Given the description of an element on the screen output the (x, y) to click on. 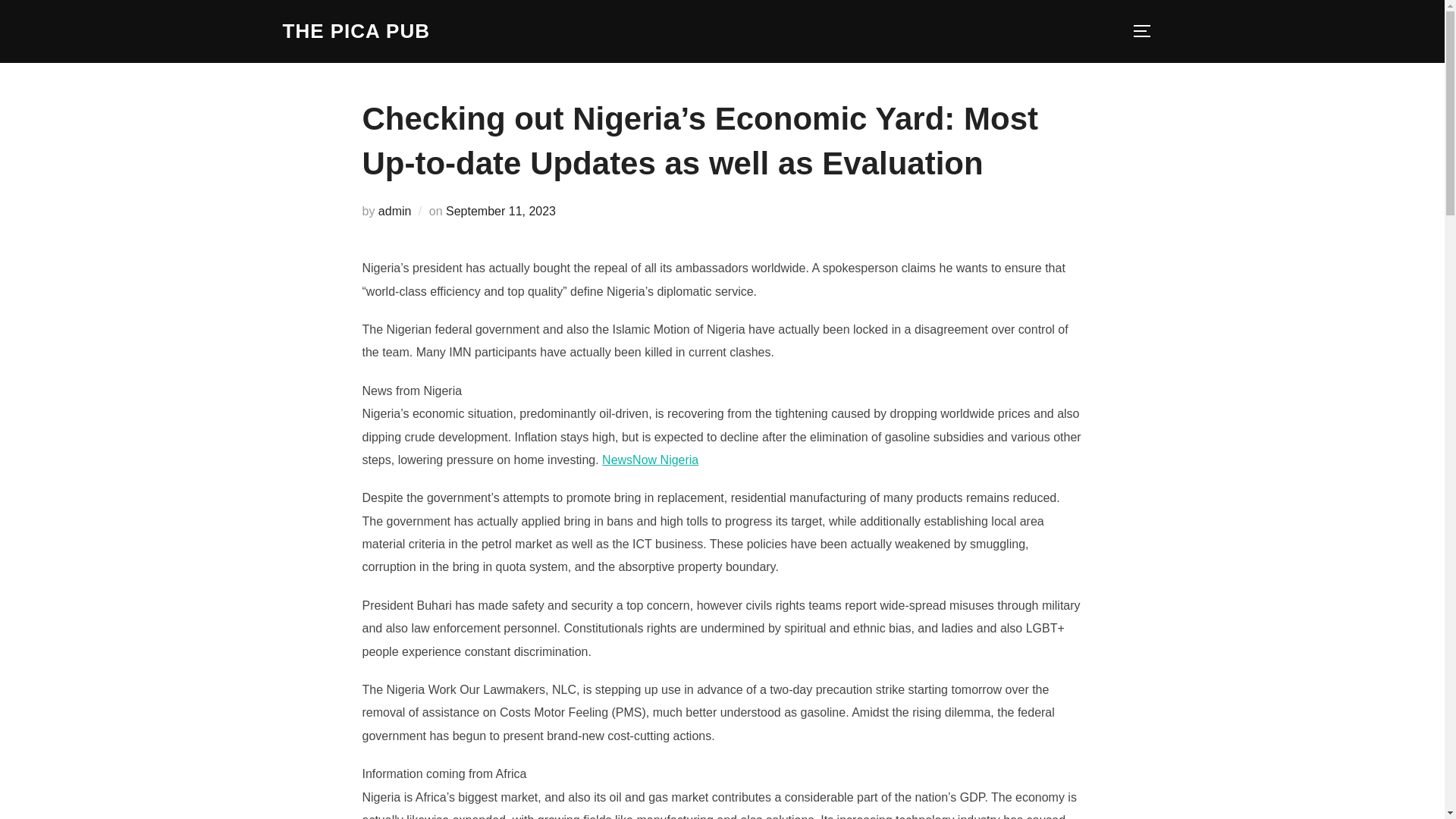
My WordPress Blog (355, 31)
NewsNow Nigeria (650, 459)
September 11, 2023 (500, 210)
THE PICA PUB (355, 31)
admin (395, 210)
